Given the description of an element on the screen output the (x, y) to click on. 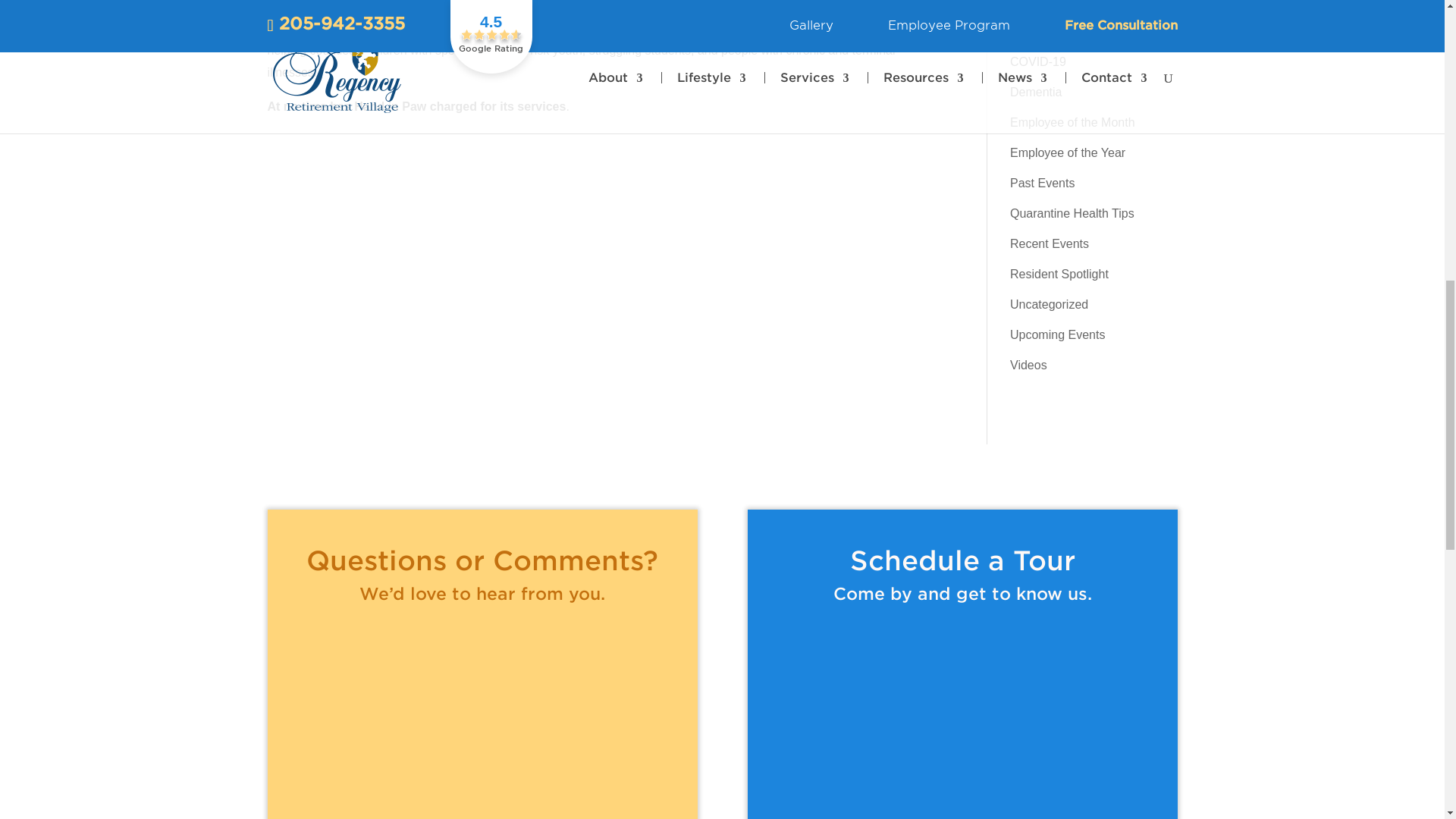
Regency Retirement Birmingham: Schedule a Tour (962, 717)
Regency Retirement Birmingham: Questions or Comments (481, 717)
